Given the description of an element on the screen output the (x, y) to click on. 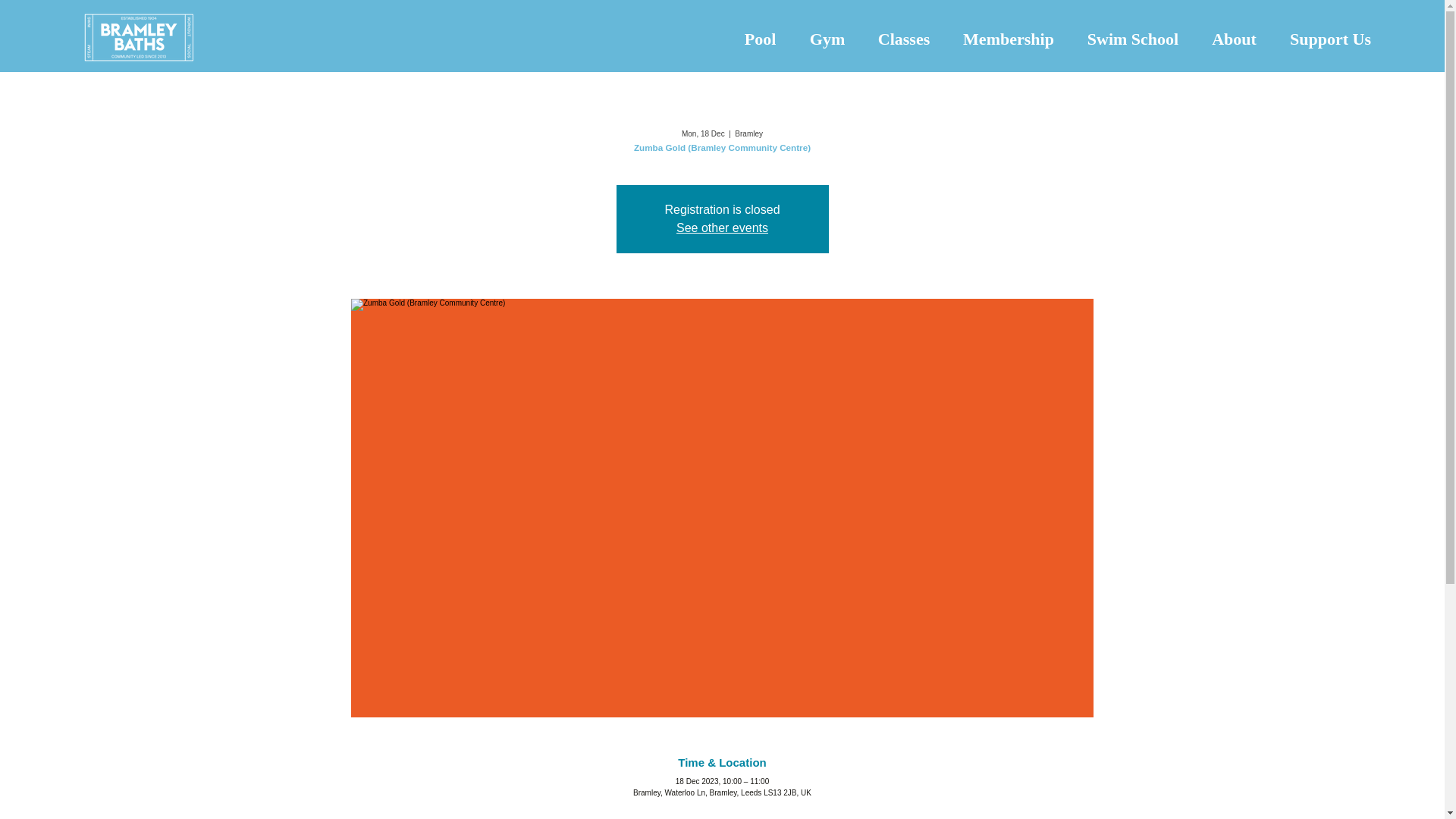
See other events (722, 227)
Bramley Baths logo.png (138, 36)
Classes (903, 39)
About (1233, 39)
Gym (827, 39)
Pool (759, 39)
Membership (1008, 39)
Swim School (1132, 39)
Support Us (1329, 39)
